Given the description of an element on the screen output the (x, y) to click on. 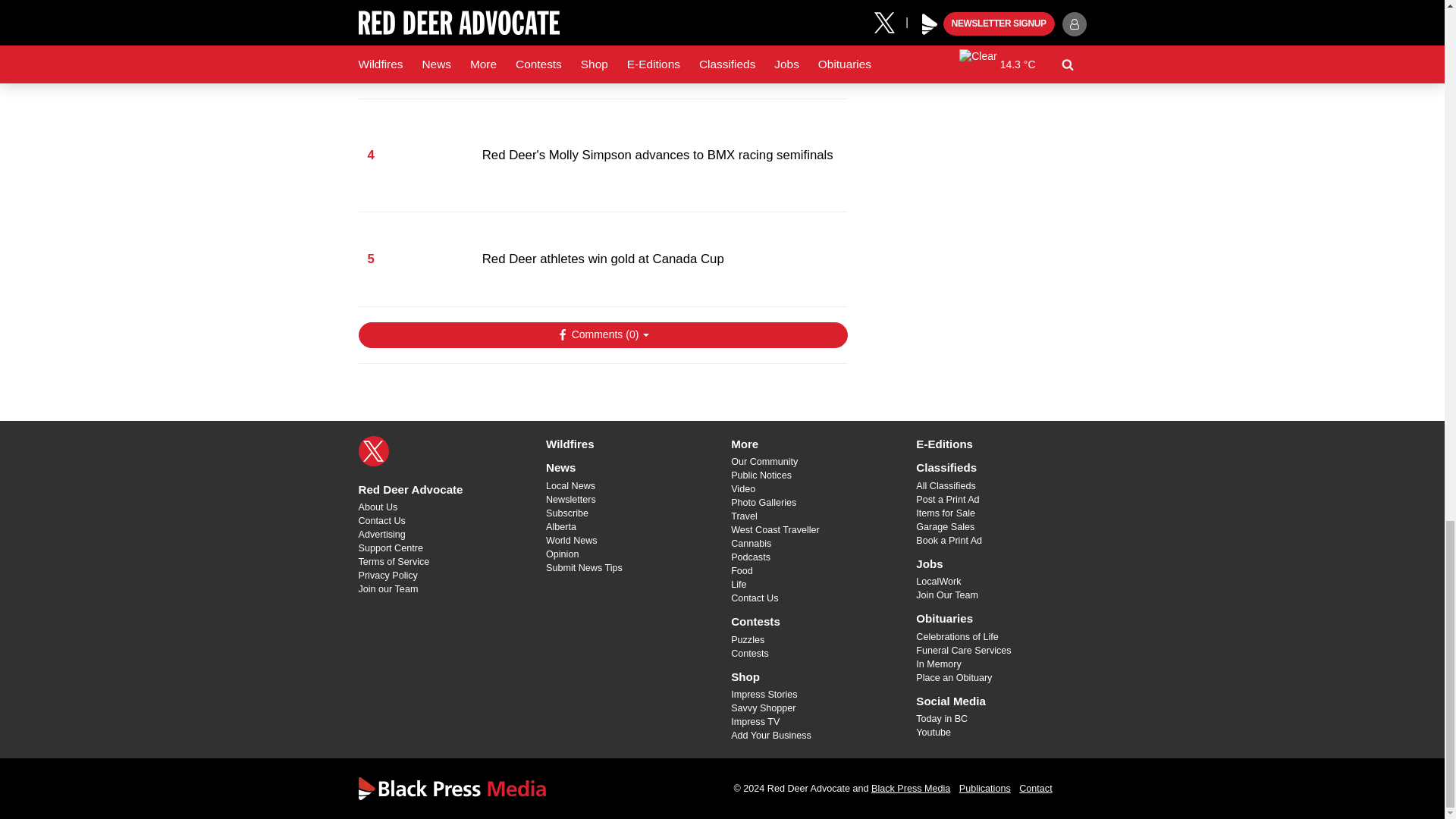
X (373, 450)
Show Comments (602, 335)
